Given the description of an element on the screen output the (x, y) to click on. 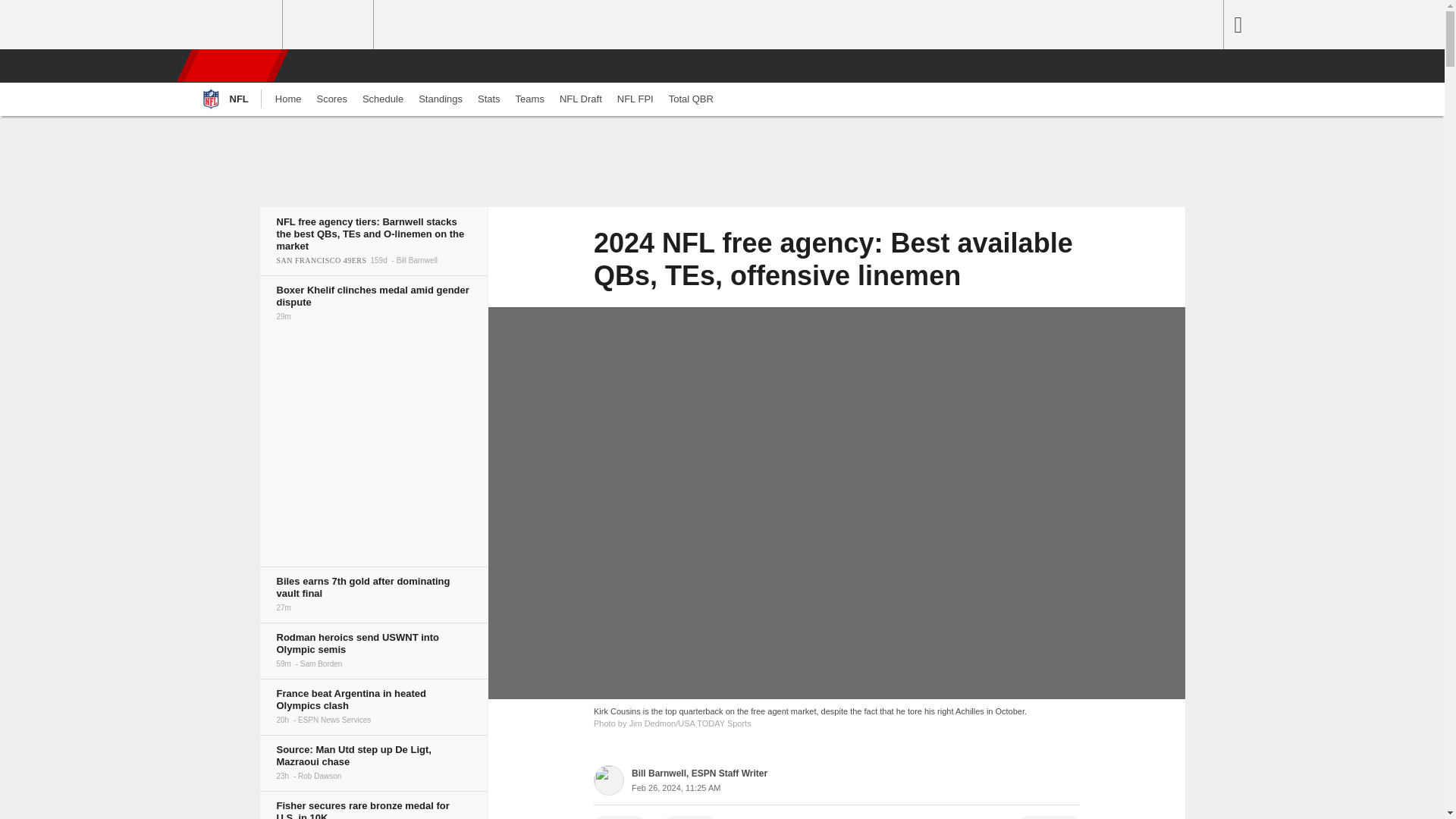
ESPN (231, 65)
Home (287, 99)
NFL (222, 99)
